Given the description of an element on the screen output the (x, y) to click on. 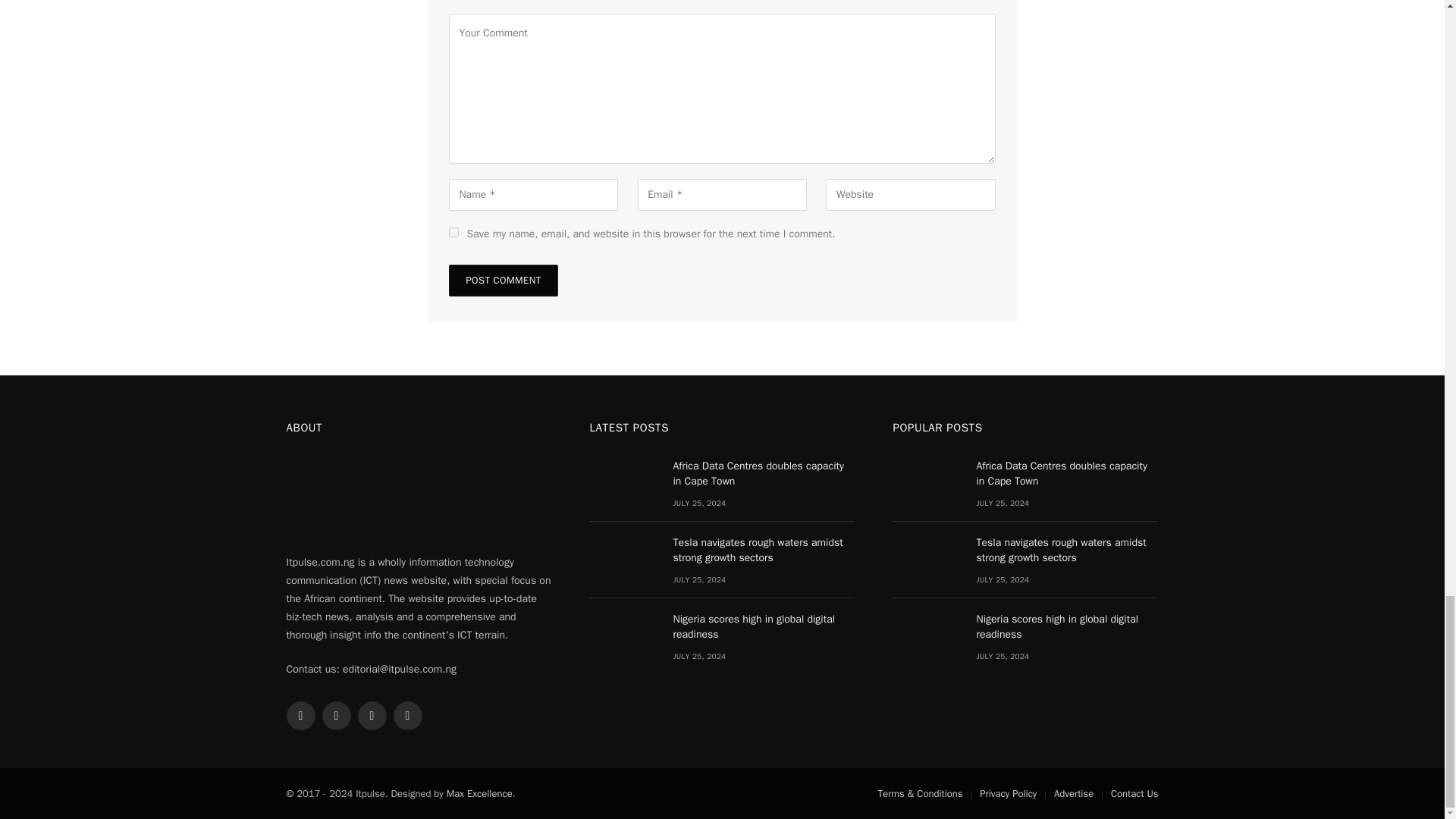
yes (453, 232)
Post Comment (502, 280)
